Given the description of an element on the screen output the (x, y) to click on. 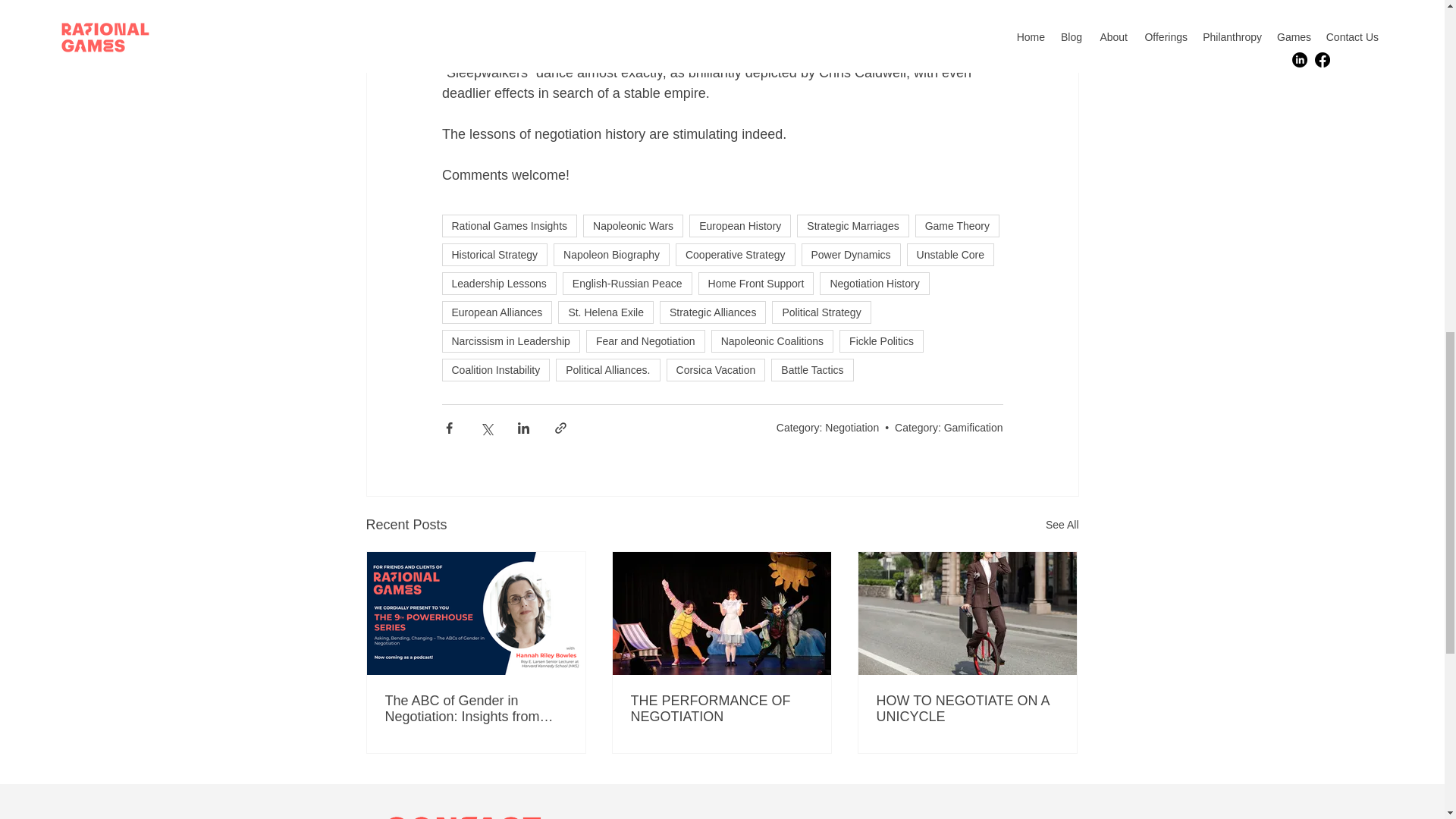
Rational Games Insights (508, 225)
Leadership Lessons (498, 282)
Fickle Politics (881, 341)
Strategic Marriages (852, 225)
English-Russian Peace (627, 282)
European Alliances (496, 312)
Narcissism in Leadership (510, 341)
Fear and Negotiation (645, 341)
Power Dynamics (849, 254)
Napoleonic Coalitions (771, 341)
Historical Strategy (494, 254)
Game Theory (956, 225)
Cooperative Strategy (734, 254)
European History (739, 225)
Napoleon Biography (611, 254)
